Given the description of an element on the screen output the (x, y) to click on. 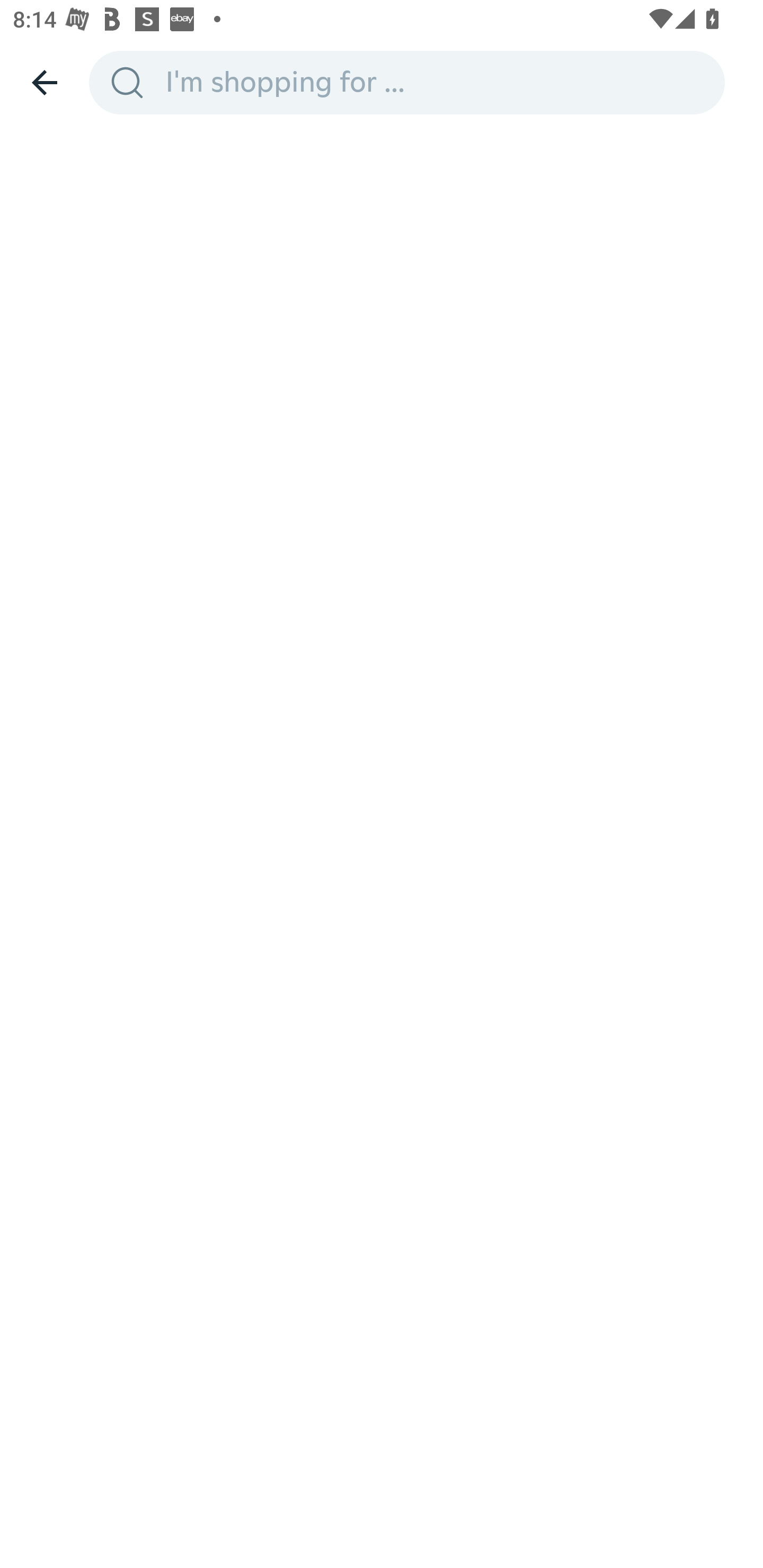
Navigate up (44, 82)
I'm shopping for ... (438, 81)
